Given the description of an element on the screen output the (x, y) to click on. 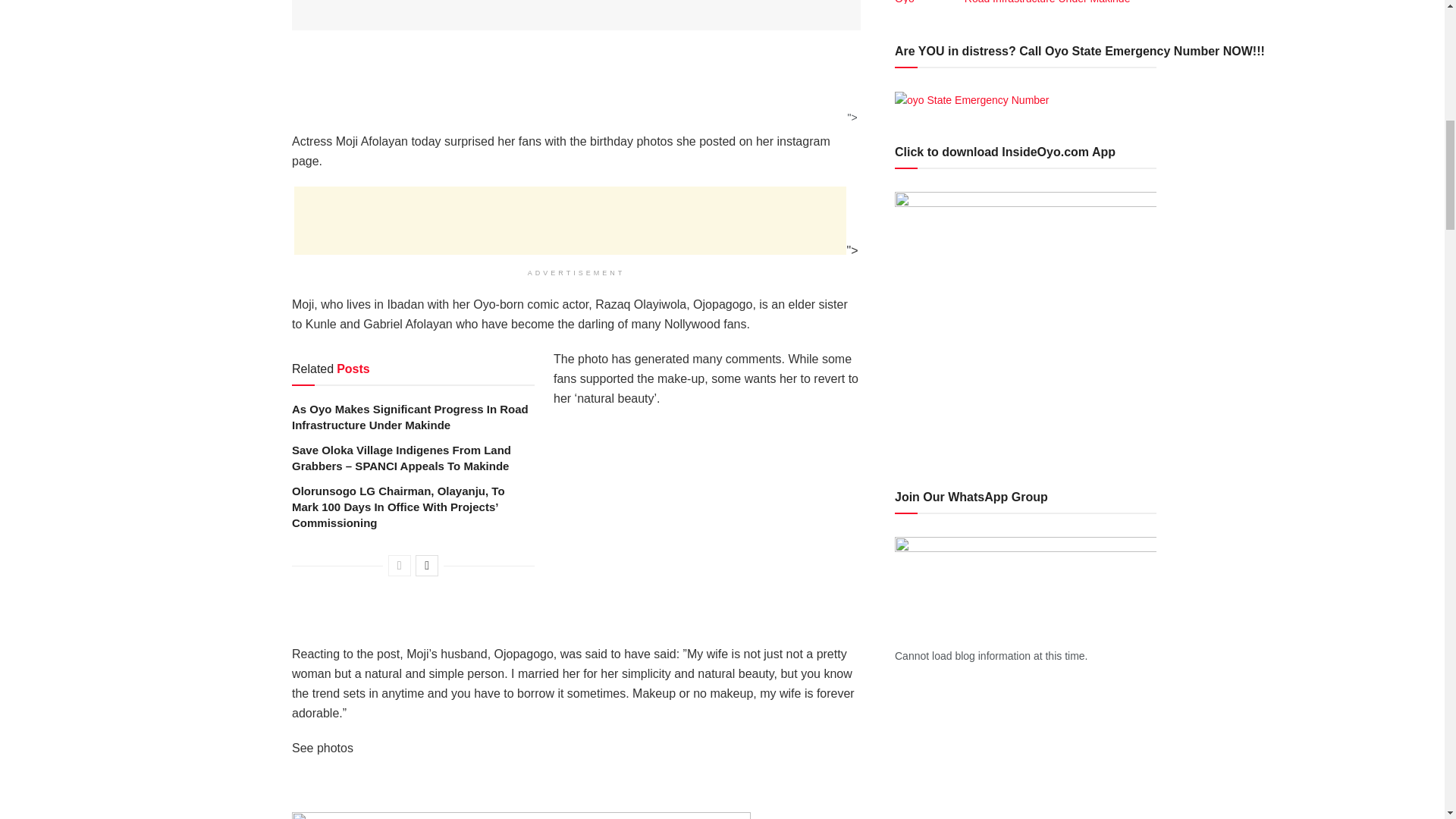
Next (426, 565)
Are YOU in distress? Call Oyo State Emergency Number NOW!!! (972, 99)
Previous (399, 565)
